Given the description of an element on the screen output the (x, y) to click on. 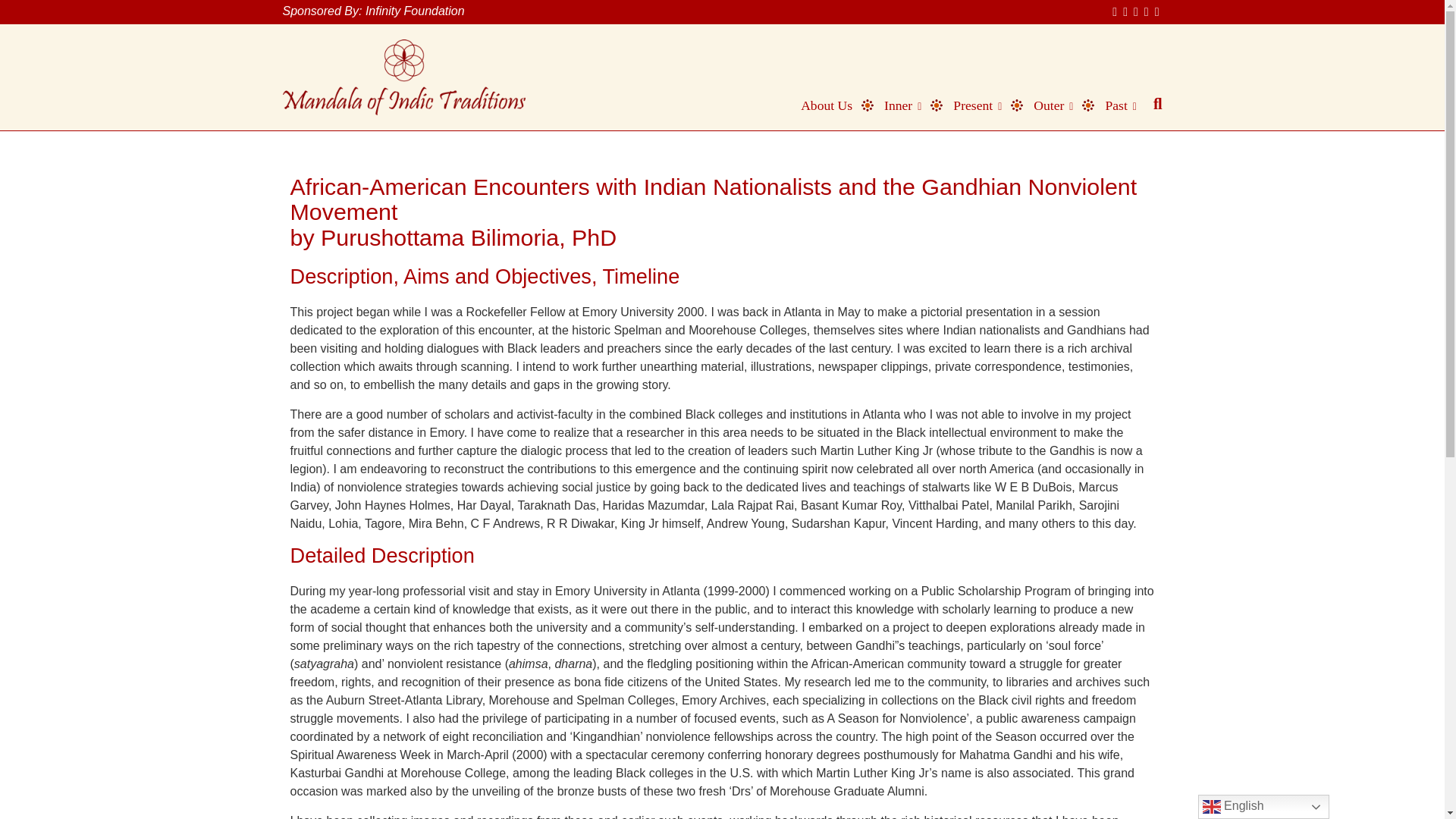
Outer (1045, 104)
About Us (819, 104)
English (1263, 806)
Inner (895, 104)
Present (970, 104)
Past (1112, 104)
Indic Mandala (403, 77)
